Given the description of an element on the screen output the (x, y) to click on. 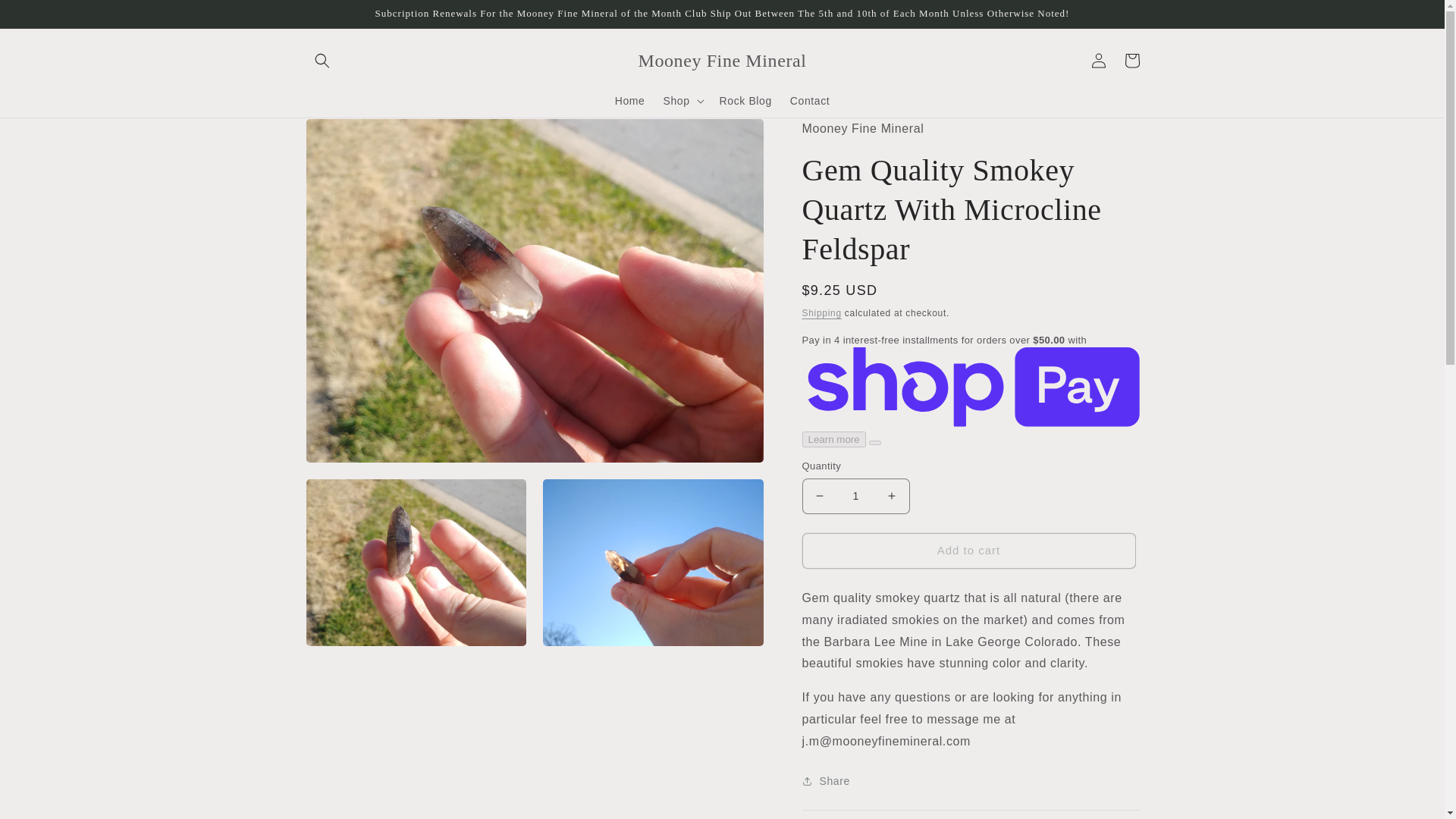
Rock Blog (745, 101)
Cart (1131, 60)
Home (629, 101)
Skip to content (45, 17)
1 (856, 496)
Skip to product information (350, 135)
Log in (1098, 60)
Mooney Fine Mineral (721, 60)
Contact (809, 101)
